Given the description of an element on the screen output the (x, y) to click on. 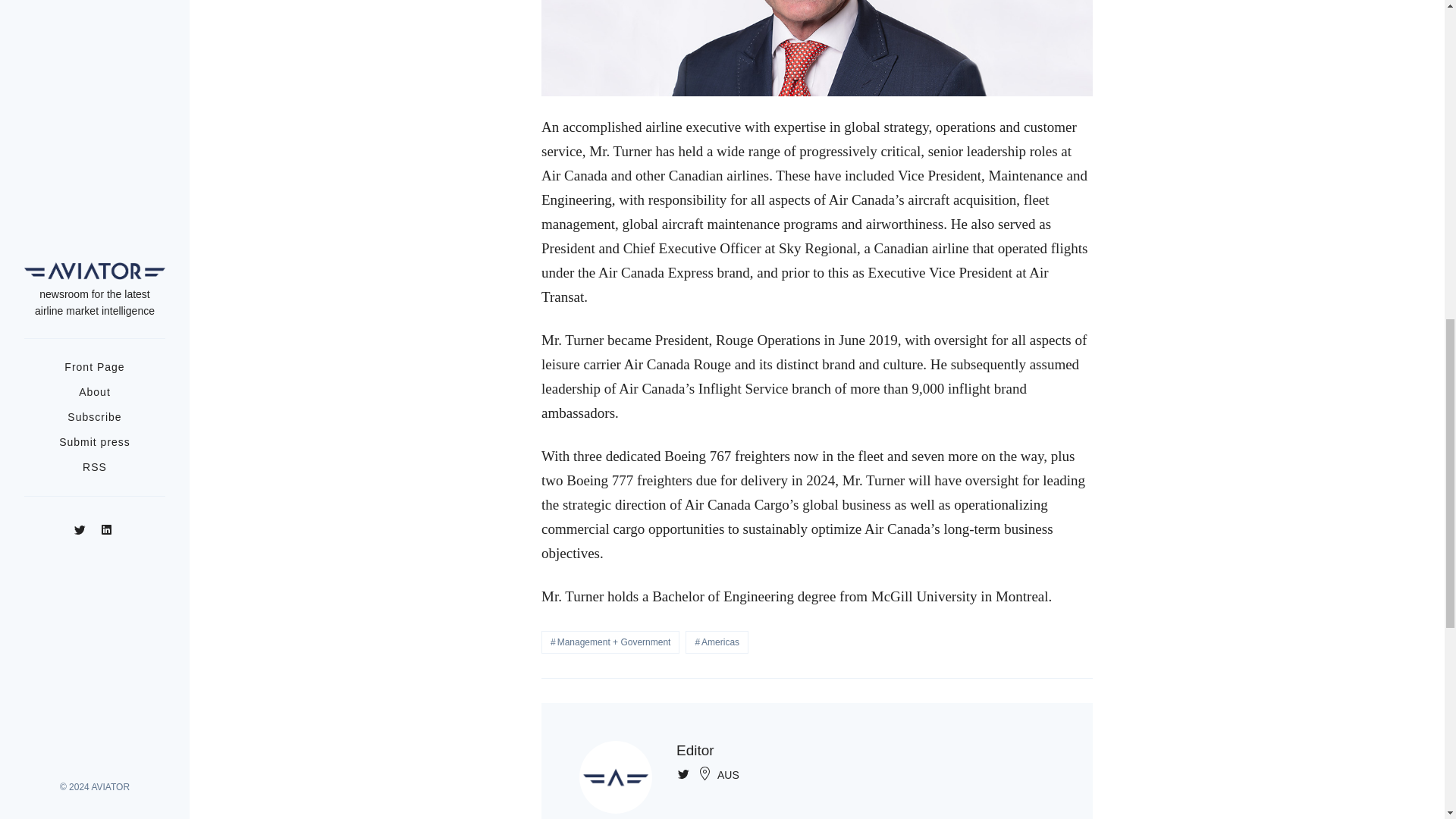
Americas (716, 641)
Editor (695, 750)
